Given the description of an element on the screen output the (x, y) to click on. 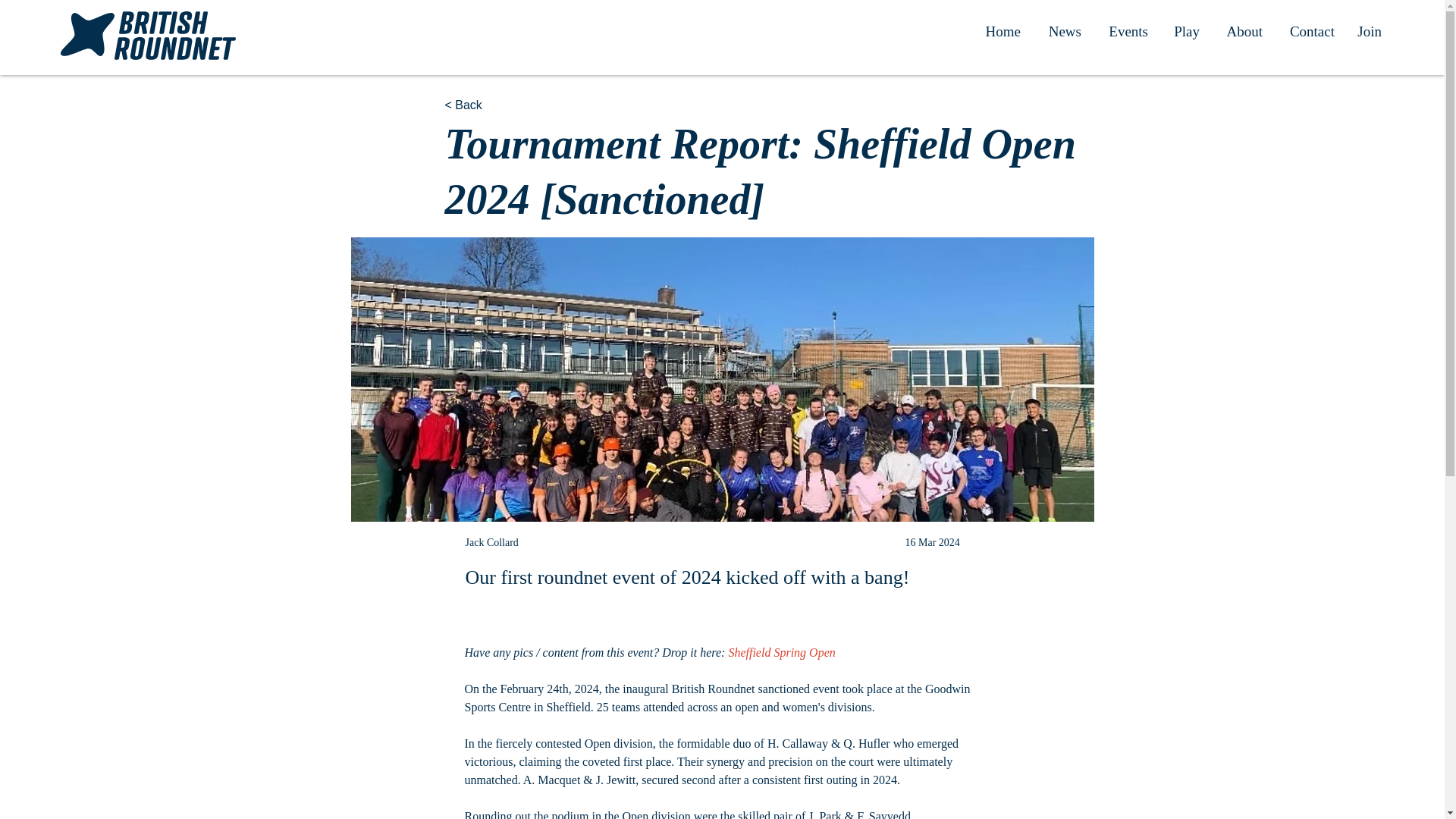
Join (1369, 31)
Home (1001, 31)
Sheffield Spring Open (781, 652)
Play (1184, 31)
Events (1125, 31)
News (1062, 31)
Contact (1309, 31)
About (1242, 31)
